Given the description of an element on the screen output the (x, y) to click on. 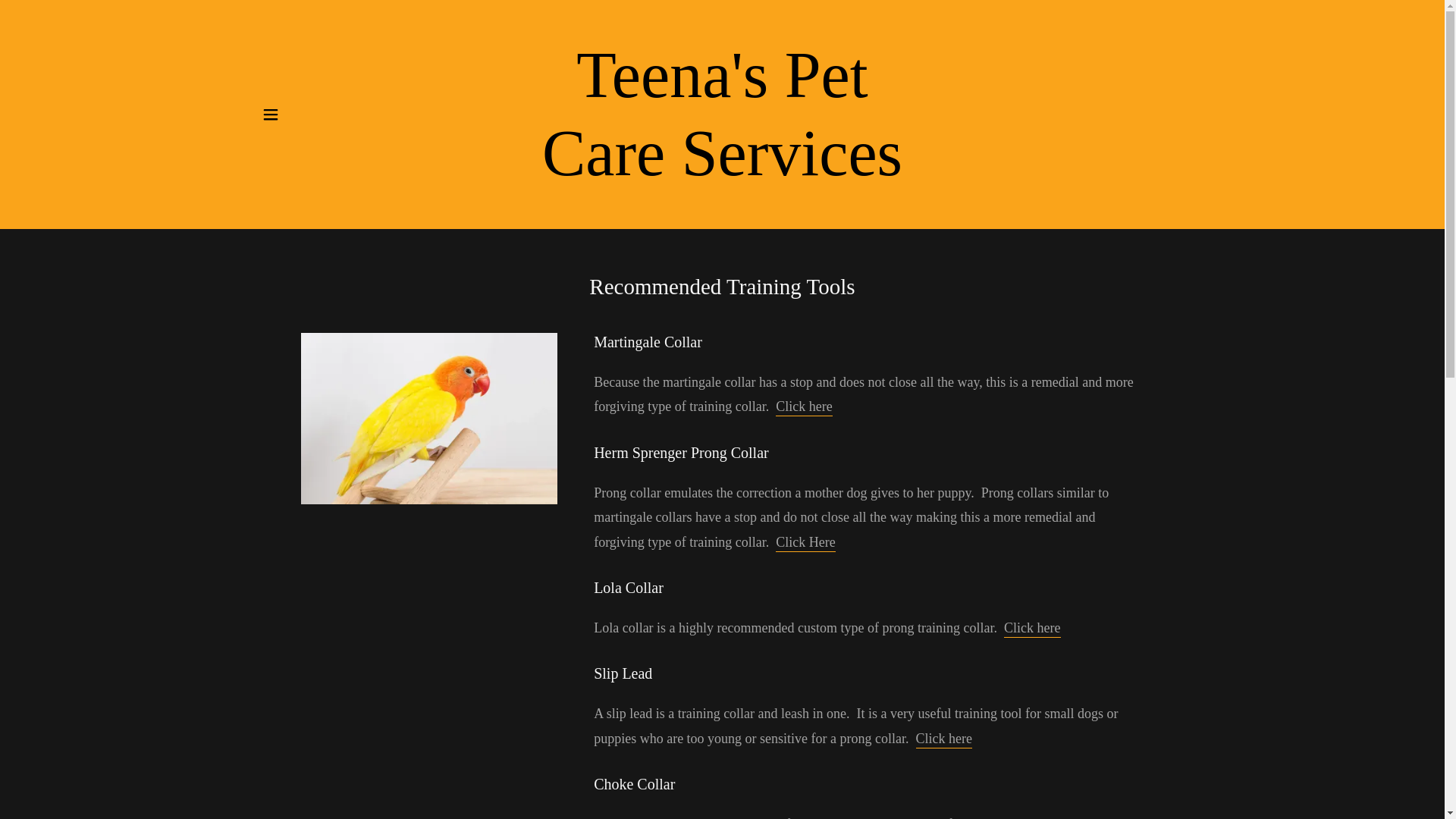
Click Here (721, 170)
Teena's Pet Care Services (805, 543)
Click here (721, 170)
Click here (803, 407)
Click here (943, 739)
